Given the description of an element on the screen output the (x, y) to click on. 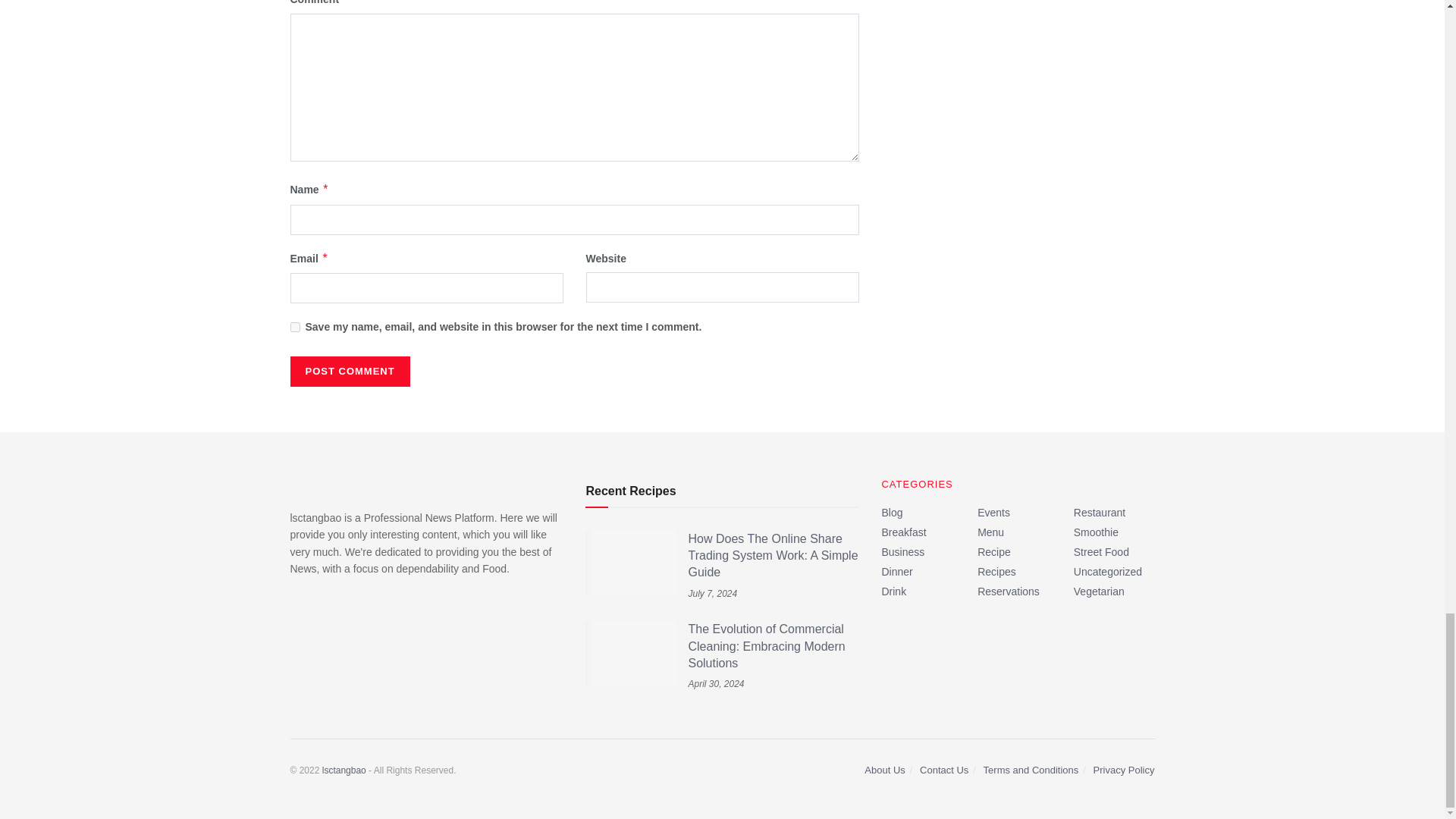
yes (294, 327)
Post Comment (349, 371)
Post Comment (349, 371)
